Given the description of an element on the screen output the (x, y) to click on. 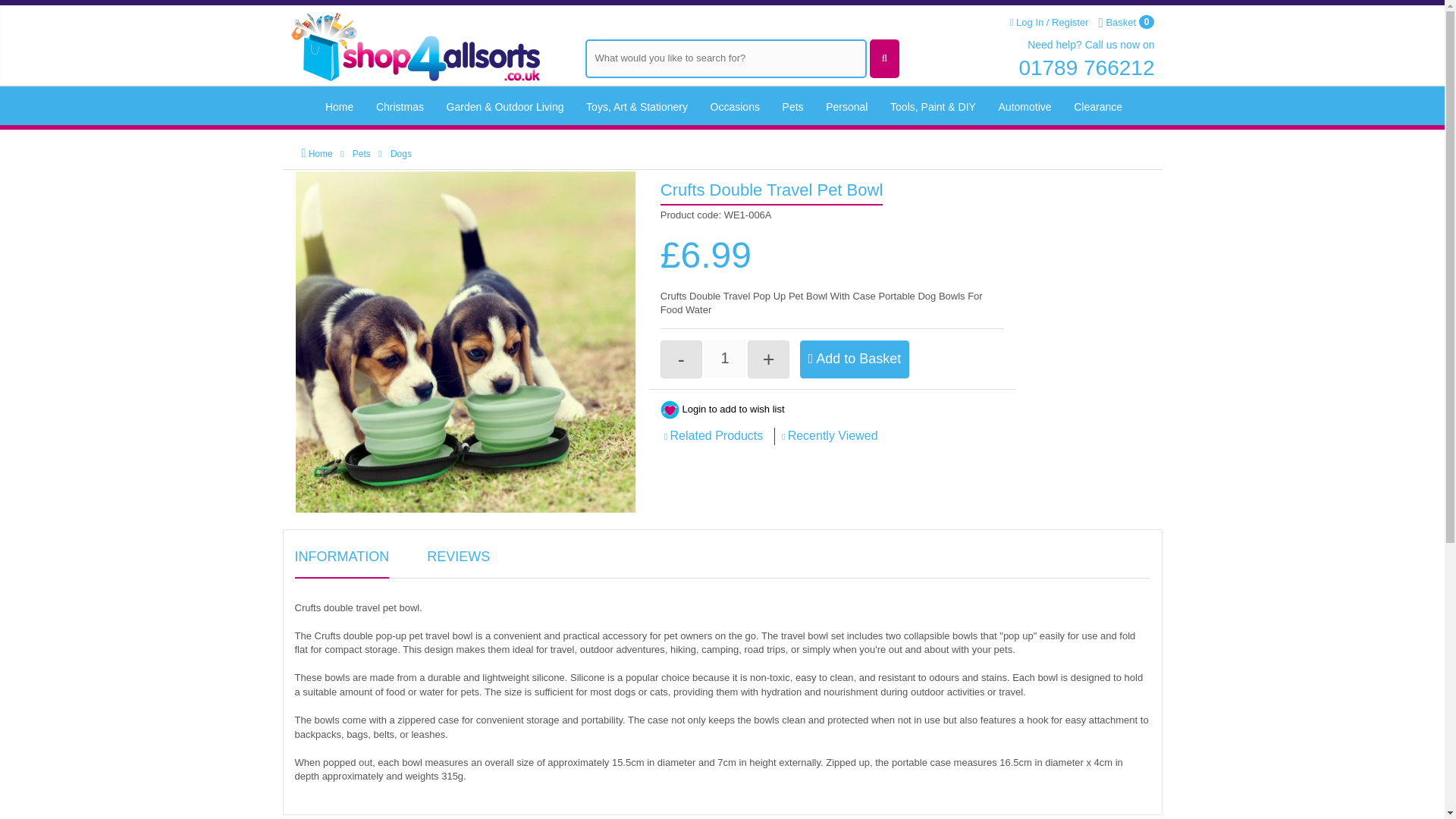
1 (724, 358)
Home (339, 107)
Basket 0 (1125, 22)
Shop4Allsorts (413, 42)
Christmas (400, 107)
wish list (670, 409)
